Given the description of an element on the screen output the (x, y) to click on. 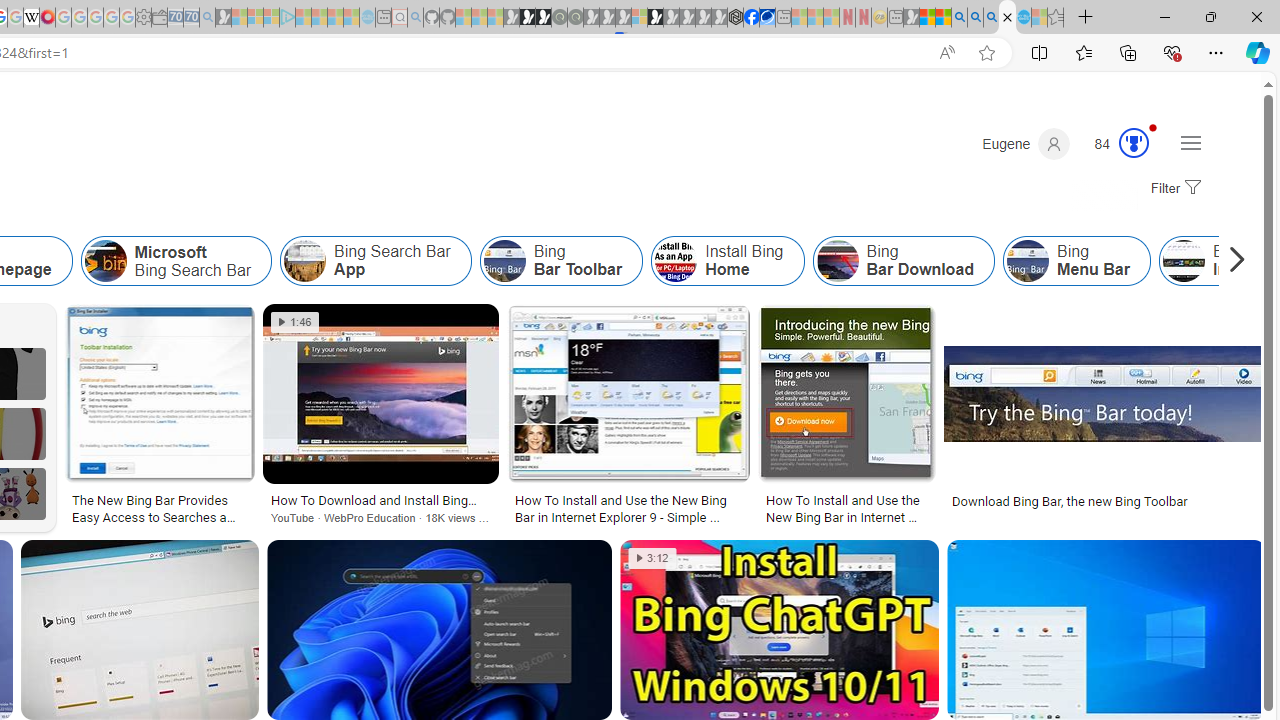
Bing Search Bar App (376, 260)
Image result for Bing Search Bar Install (1106, 630)
Animation (1153, 127)
Bing Menu Bar (1028, 260)
Settings and quick links (1190, 142)
